Given the description of an element on the screen output the (x, y) to click on. 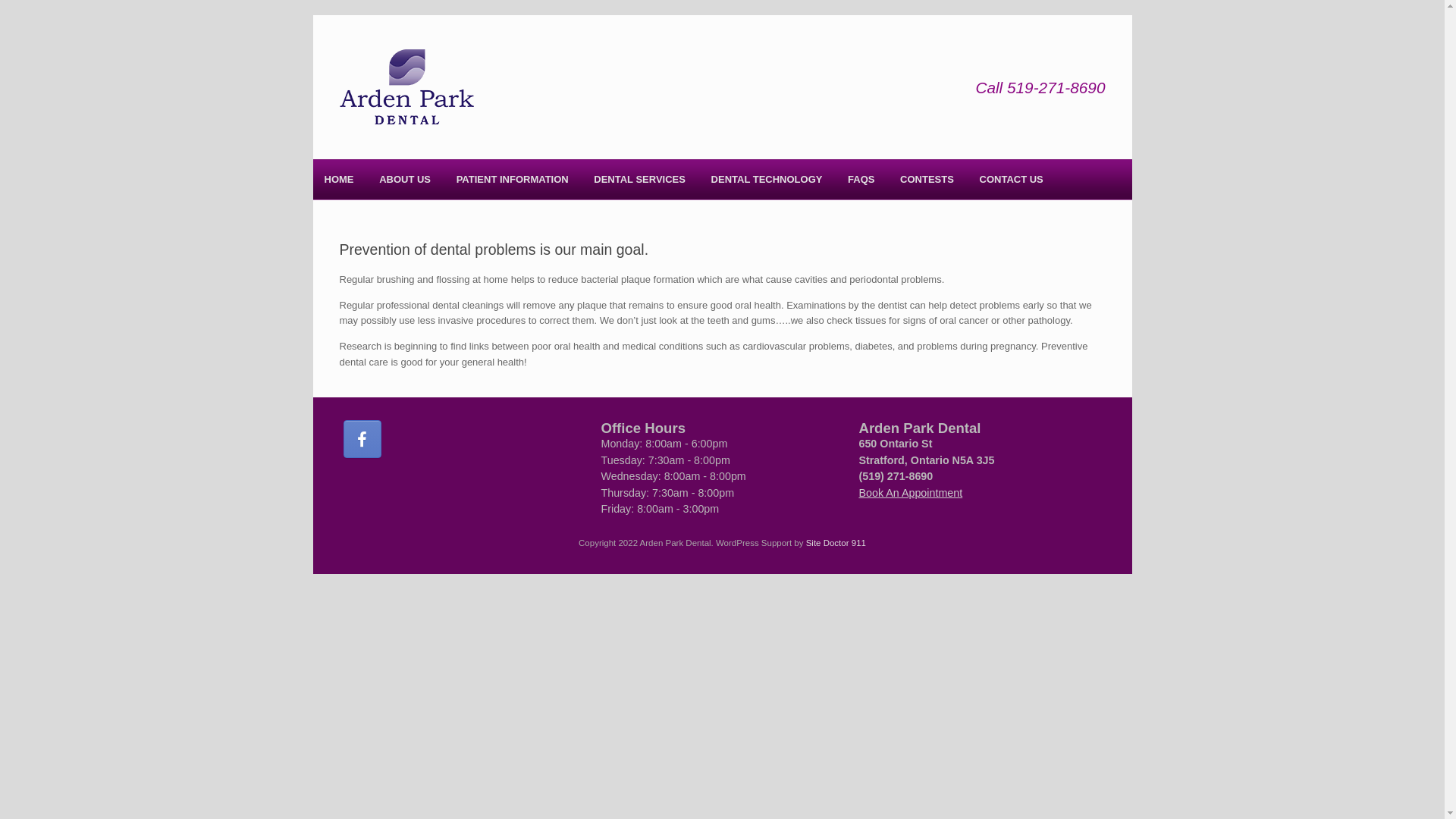
Book An Appointment Element type: text (910, 492)
Arden Park Dental : family and cosmetic dentistry Element type: hover (406, 87)
ABOUT US Element type: text (404, 179)
Site Doctor 911 Element type: text (836, 542)
CONTESTS Element type: text (926, 179)
DENTAL TECHNOLOGY Element type: text (766, 179)
DENTAL SERVICES Element type: text (639, 179)
CONTACT US Element type: text (1011, 179)
Arden Park Dental : family and cosmetic dentistry Facebook Element type: hover (361, 439)
Call 519-271-8690 Element type: text (1039, 87)
PATIENT INFORMATION Element type: text (512, 179)
HOME Element type: text (338, 179)
FAQS Element type: text (860, 179)
